Given the description of an element on the screen output the (x, y) to click on. 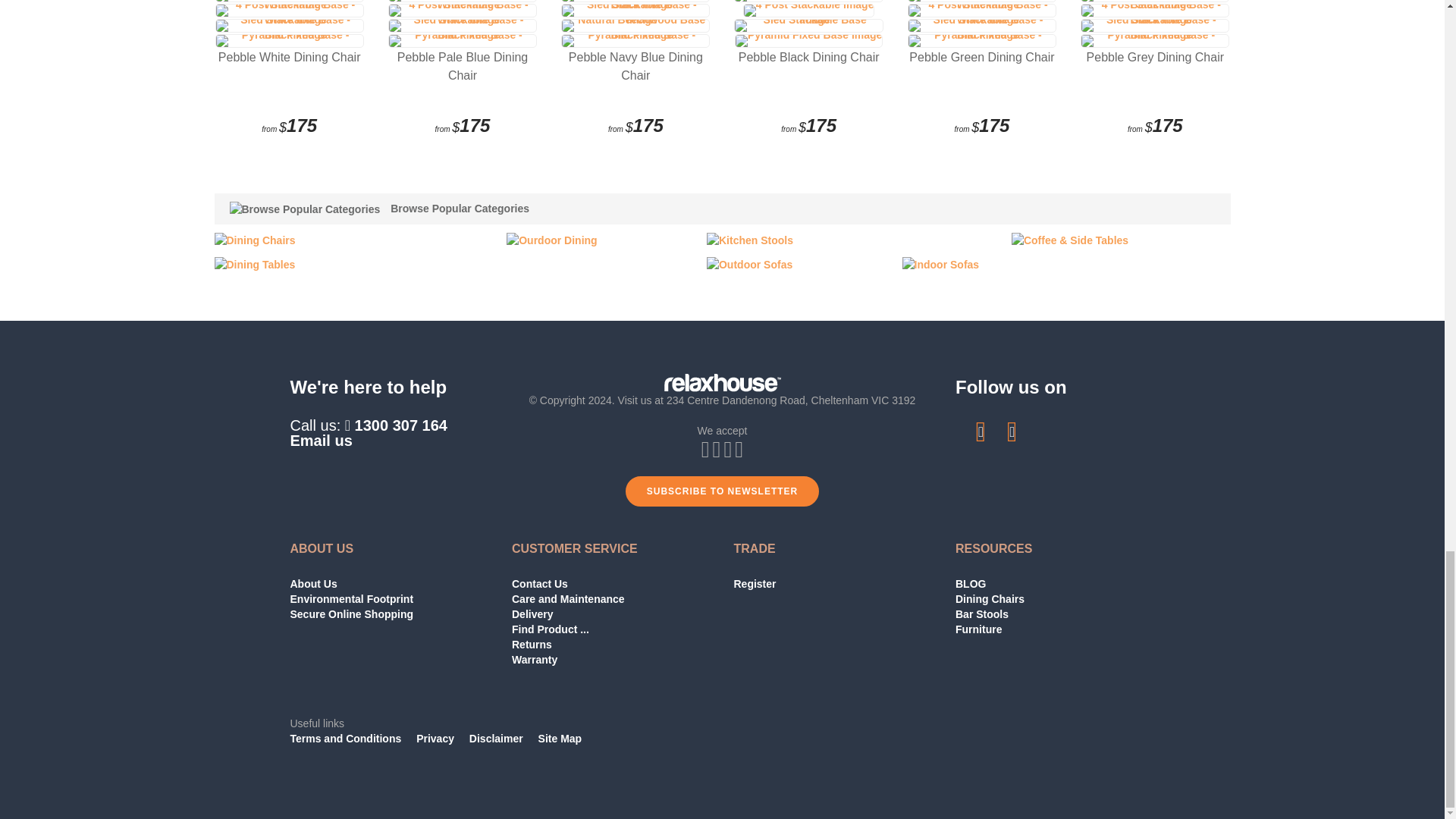
Dining Tables (254, 263)
Ourdoor Dining (551, 239)
Indoor Sofas (940, 263)
Outdoor Sofas (749, 263)
Kitchen Stools (749, 239)
Dining Chairs (254, 239)
